Given the description of an element on the screen output the (x, y) to click on. 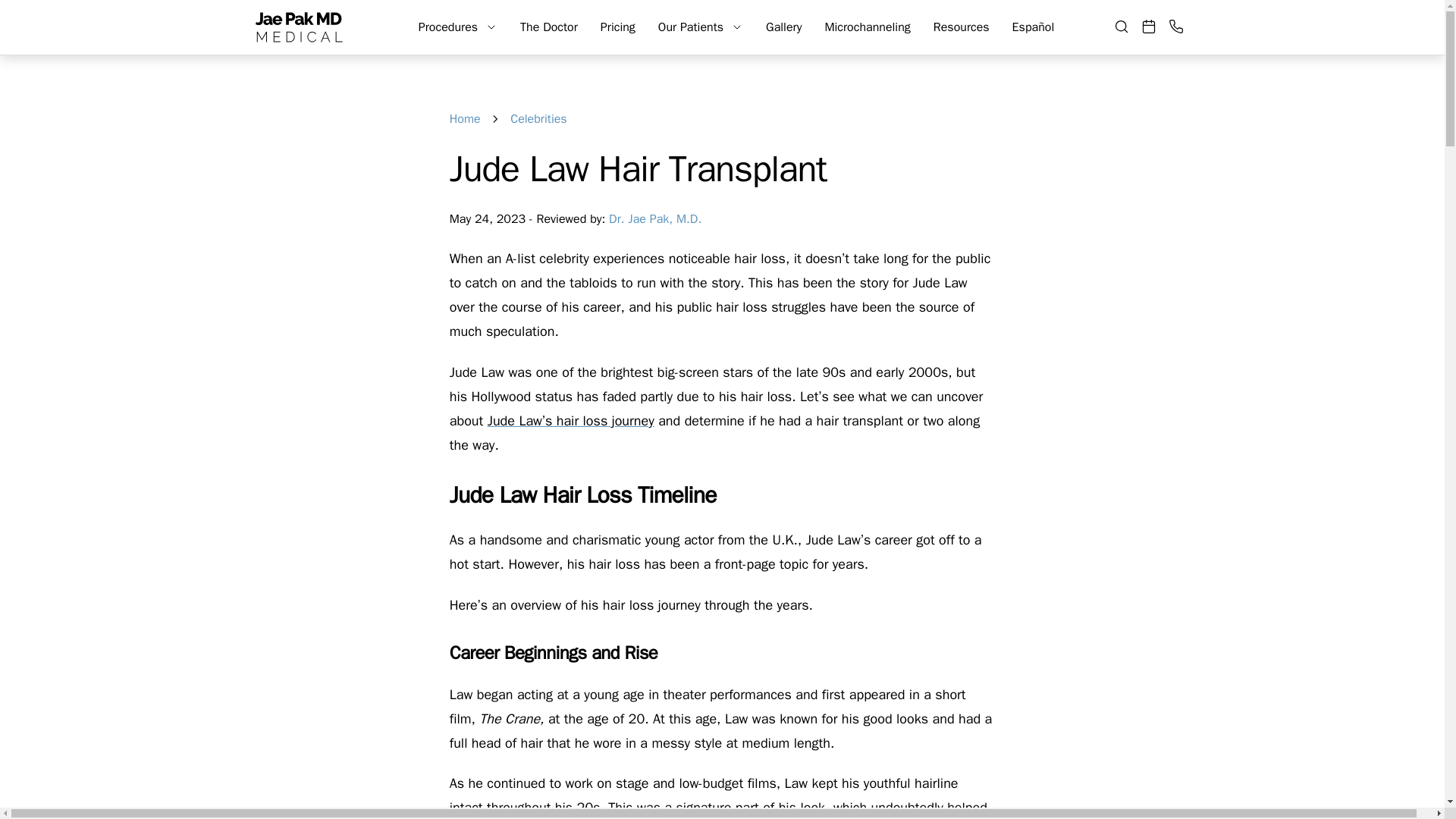
Our Patients (690, 27)
Procedures (448, 27)
The Doctor (548, 27)
